Given the description of an element on the screen output the (x, y) to click on. 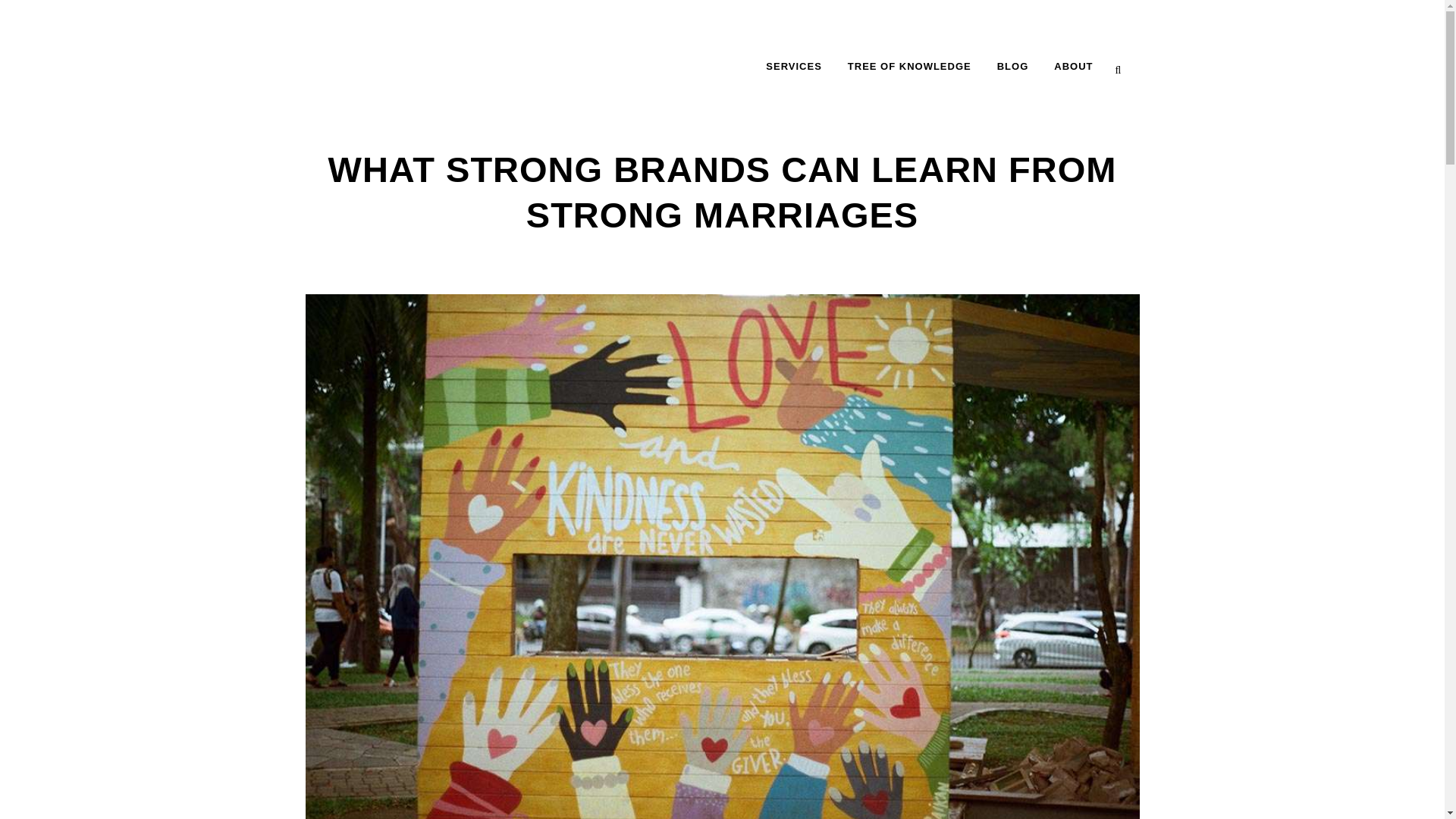
TREE OF KNOWLEDGE (909, 66)
SERVICES (793, 66)
